Given the description of an element on the screen output the (x, y) to click on. 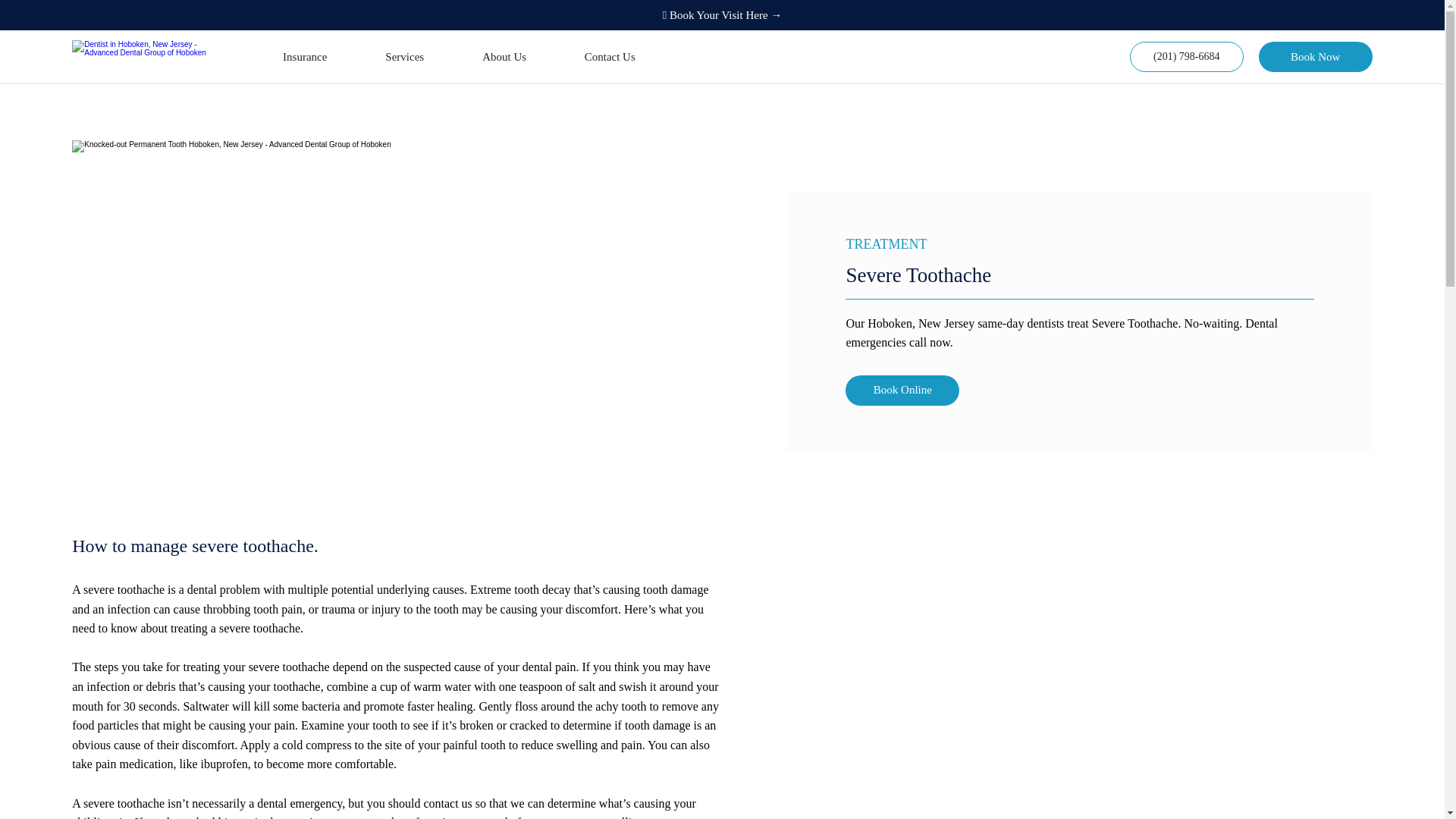
Insurance (304, 56)
Book Now (1316, 56)
About Us (503, 56)
Book Online (902, 390)
Contact Us (608, 56)
Services (403, 56)
